Given the description of an element on the screen output the (x, y) to click on. 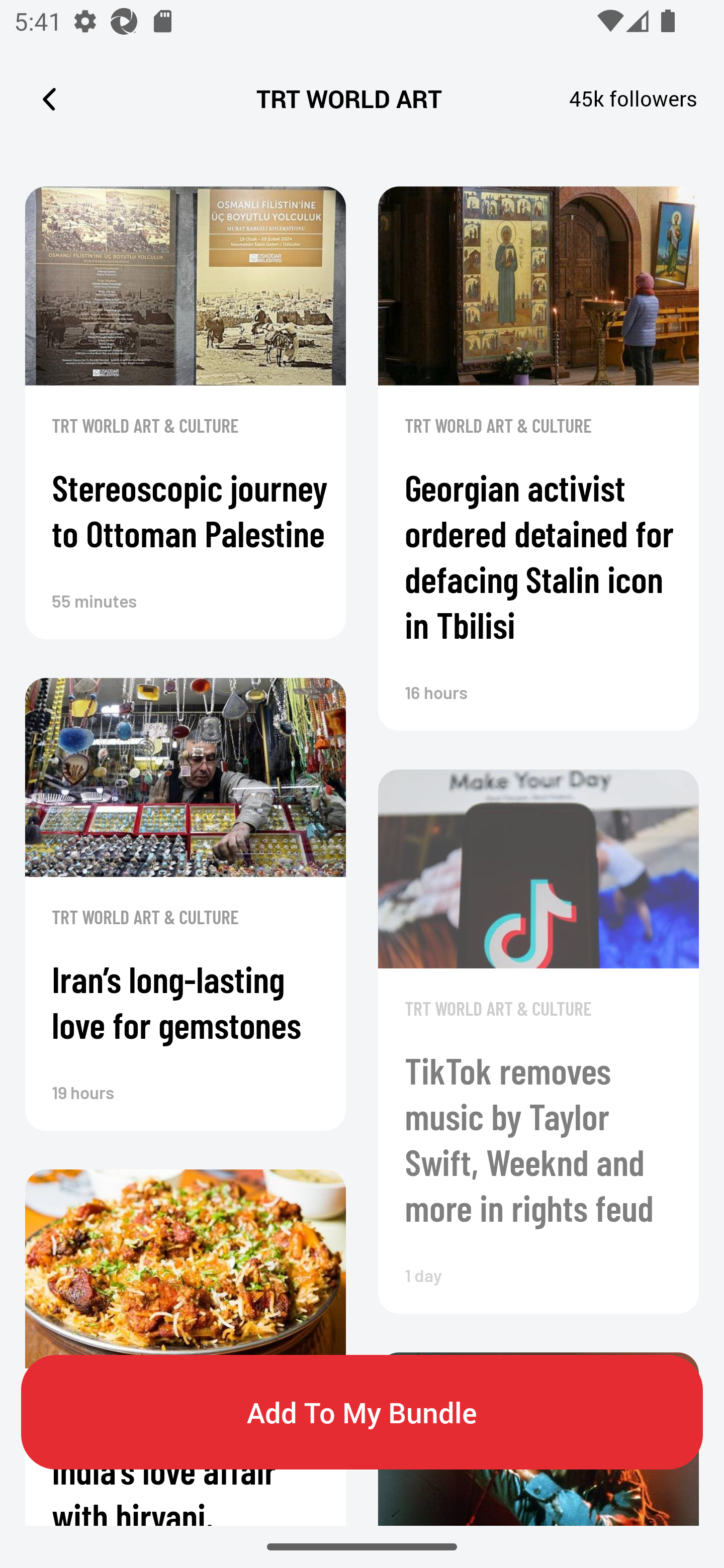
Leading Icon (49, 98)
Add To My Bundle (361, 1411)
